Given the description of an element on the screen output the (x, y) to click on. 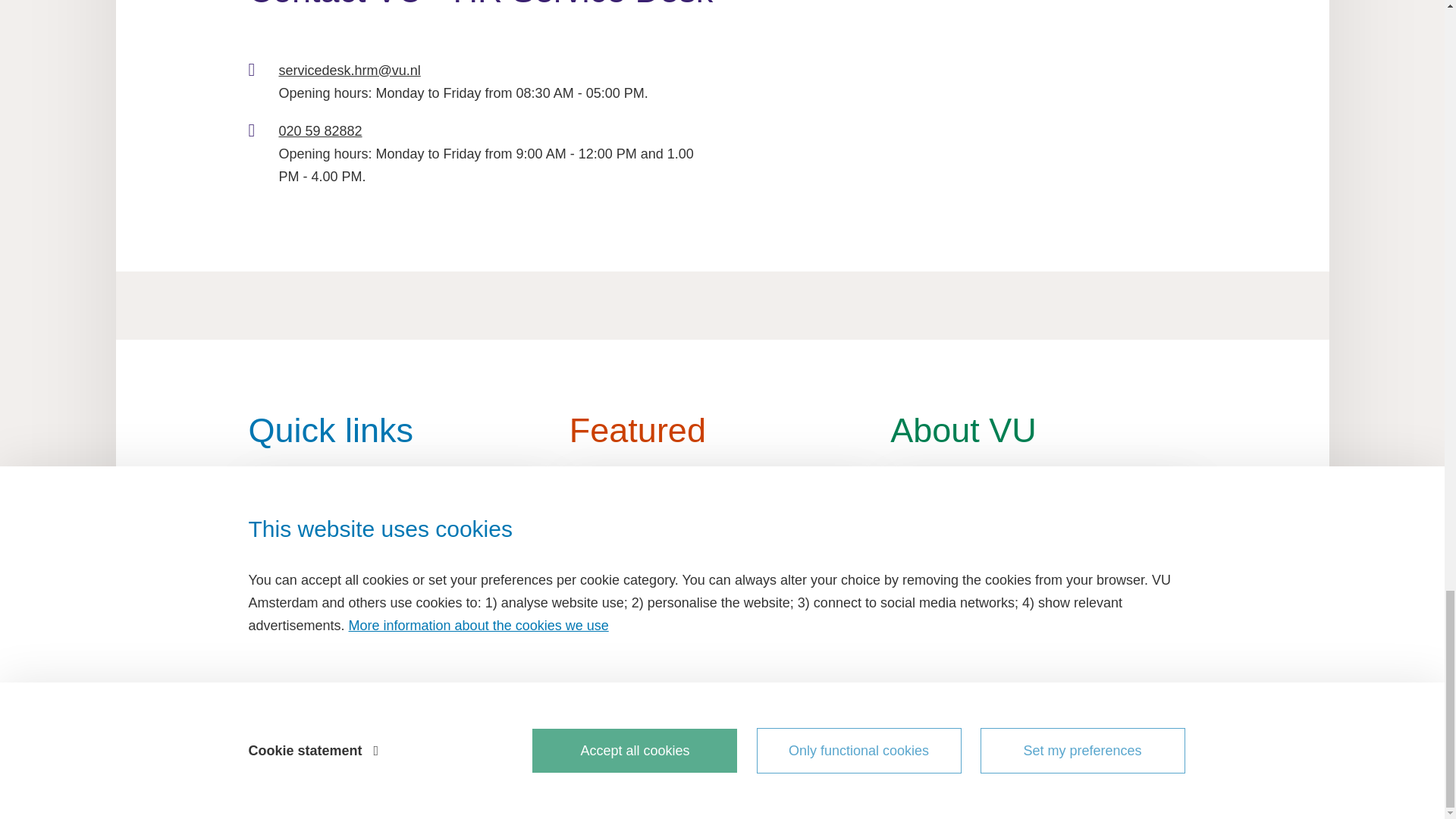
020 59 82882 (319, 130)
